Given the description of an element on the screen output the (x, y) to click on. 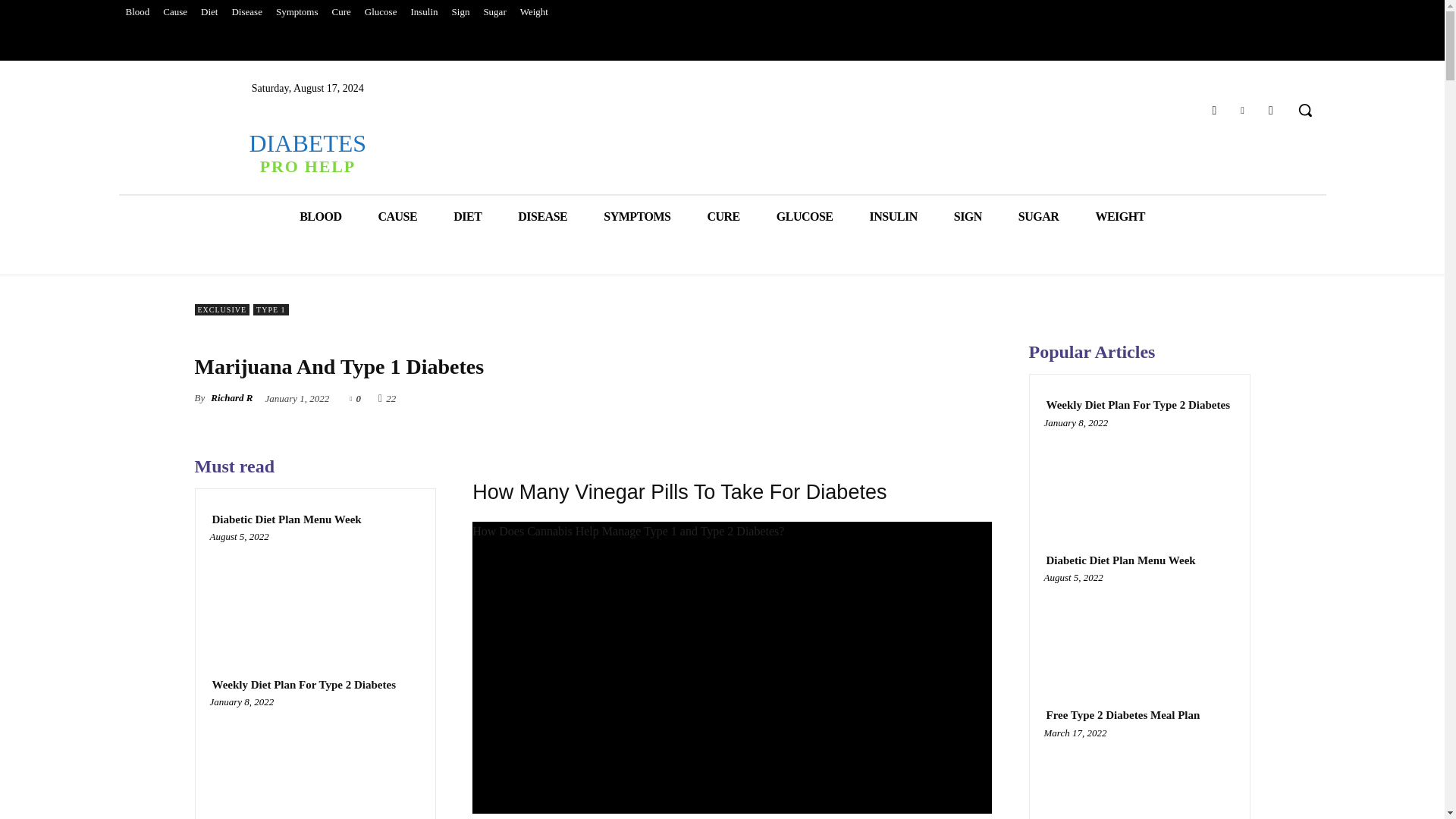
Insulin (423, 12)
DIET (467, 216)
Diet (208, 12)
Cure (341, 12)
WEIGHT (1119, 216)
Twitter (1241, 109)
Disease (245, 12)
Sugar (494, 12)
DISEASE (542, 216)
INSULIN (893, 216)
